Given the description of an element on the screen output the (x, y) to click on. 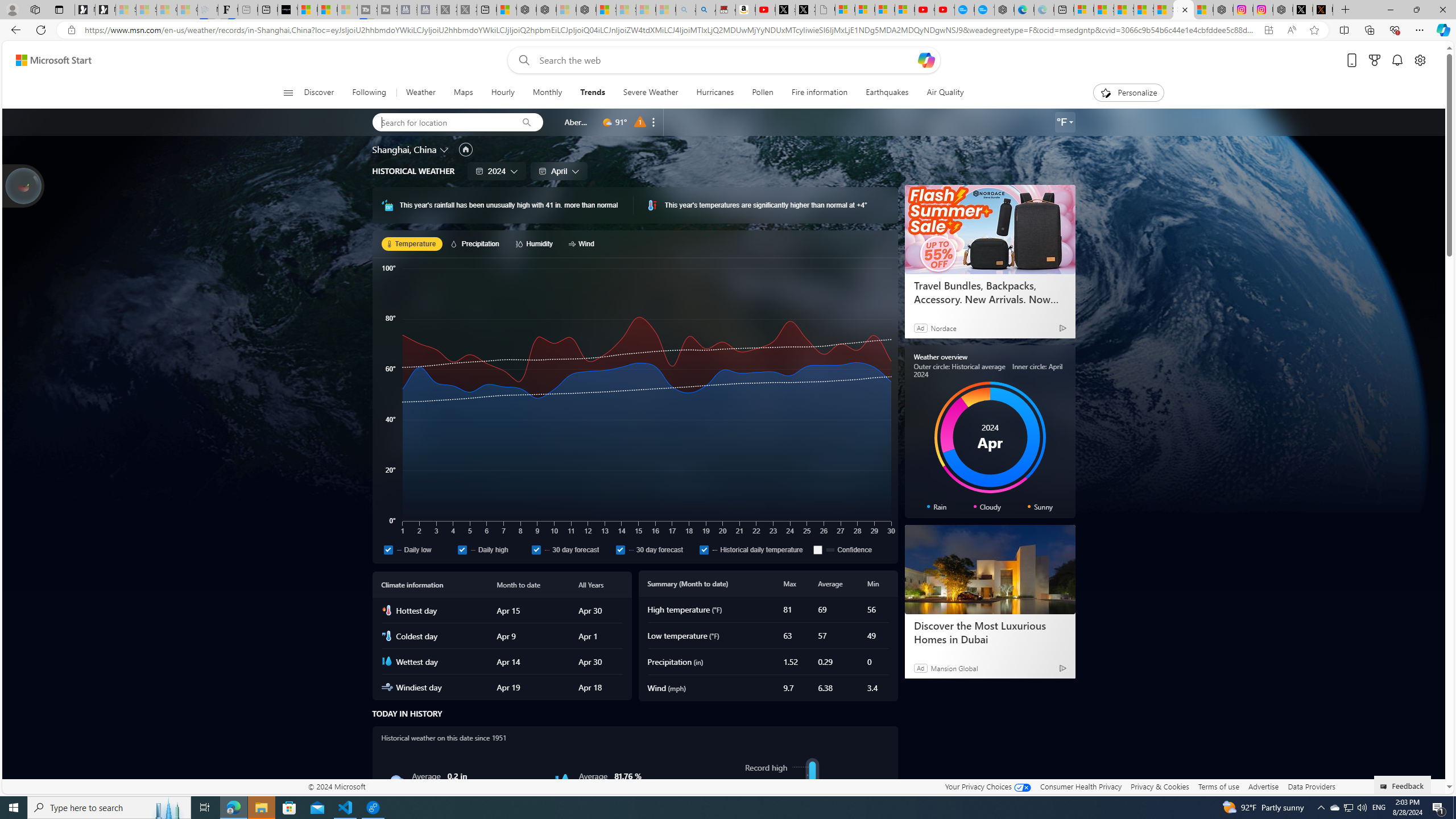
Humidity (536, 243)
Earthquakes (887, 92)
Pollen (762, 92)
Your Privacy Choices (987, 785)
Weather settings (1064, 122)
Privacy & Cookies (1160, 786)
Historical daily temperature (753, 549)
